Given the description of an element on the screen output the (x, y) to click on. 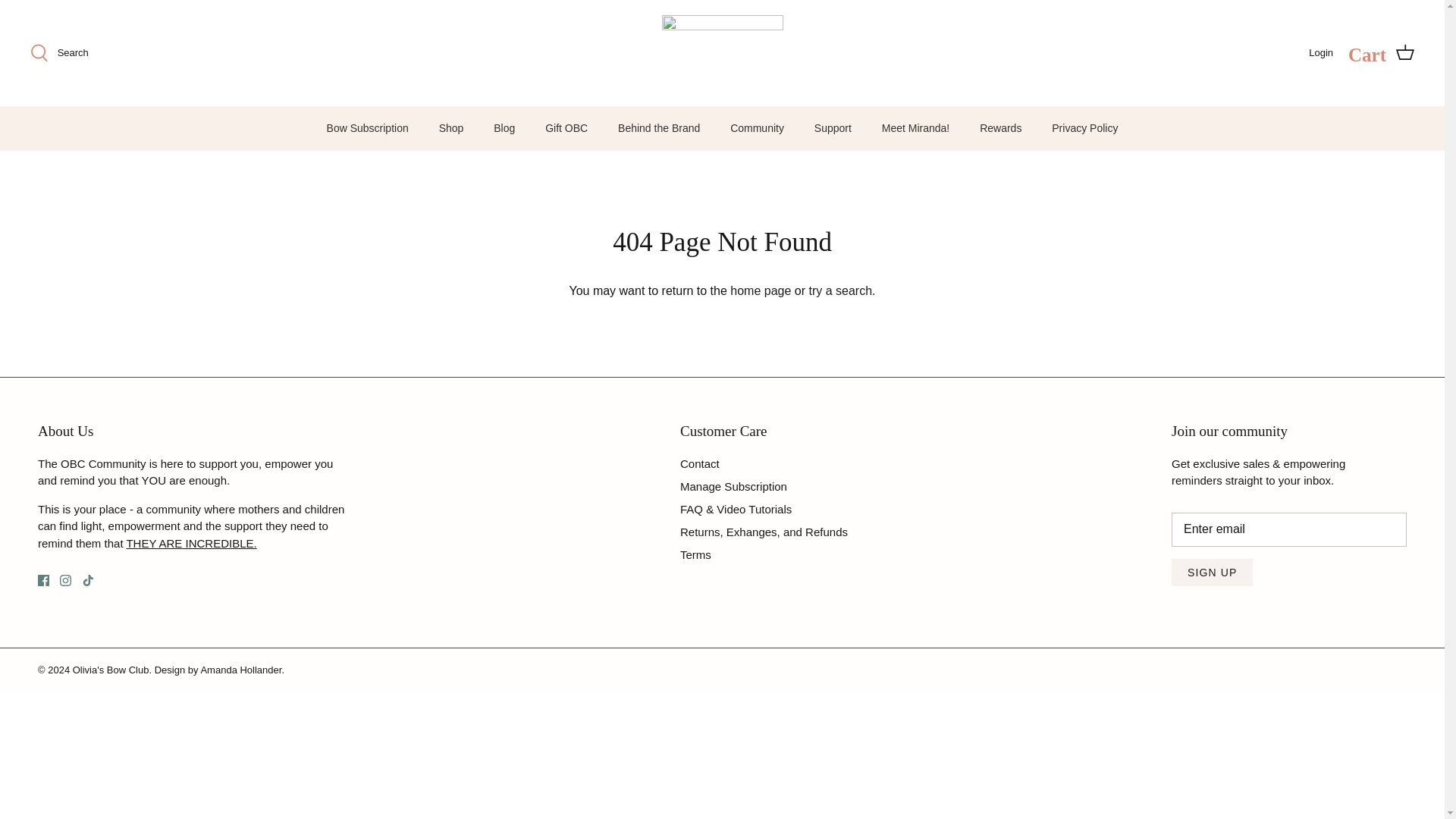
Blog (504, 128)
Rewards (1000, 128)
Privacy Policy (1084, 128)
Login (1320, 53)
Cart (1380, 53)
Community (756, 128)
Behind the Brand (658, 128)
Instagram (65, 580)
Shop (451, 128)
Olivia's Bow Club (722, 52)
Search (59, 53)
Meet Miranda! (914, 128)
Bow Subscription (367, 128)
Support (832, 128)
Facebook (43, 580)
